Given the description of an element on the screen output the (x, y) to click on. 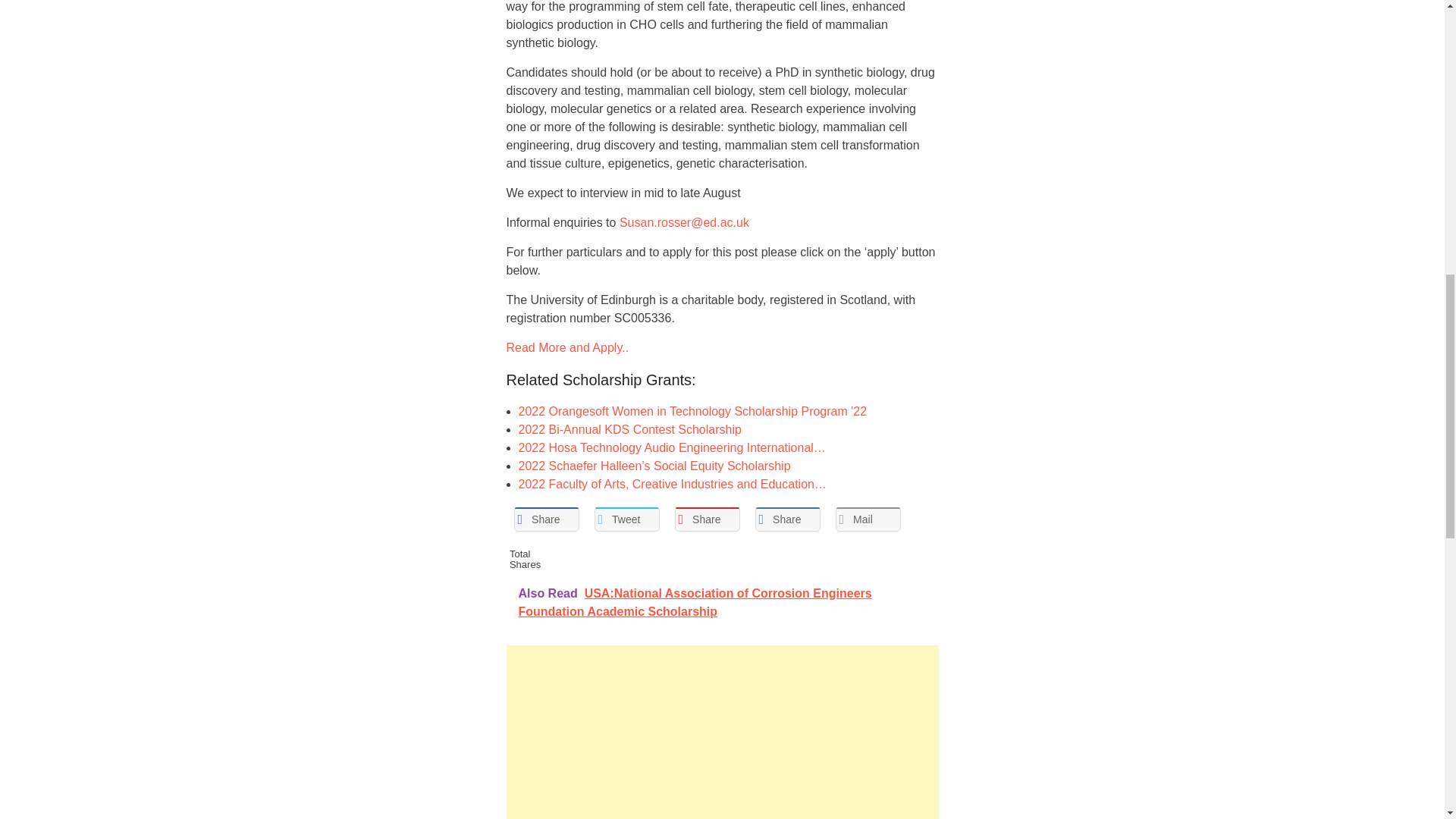
Share on Pinterest (707, 518)
Share on Facebook (546, 518)
Share on Twitter (626, 518)
Share it on Email (868, 518)
Share on LinkedIn (788, 518)
